Given the description of an element on the screen output the (x, y) to click on. 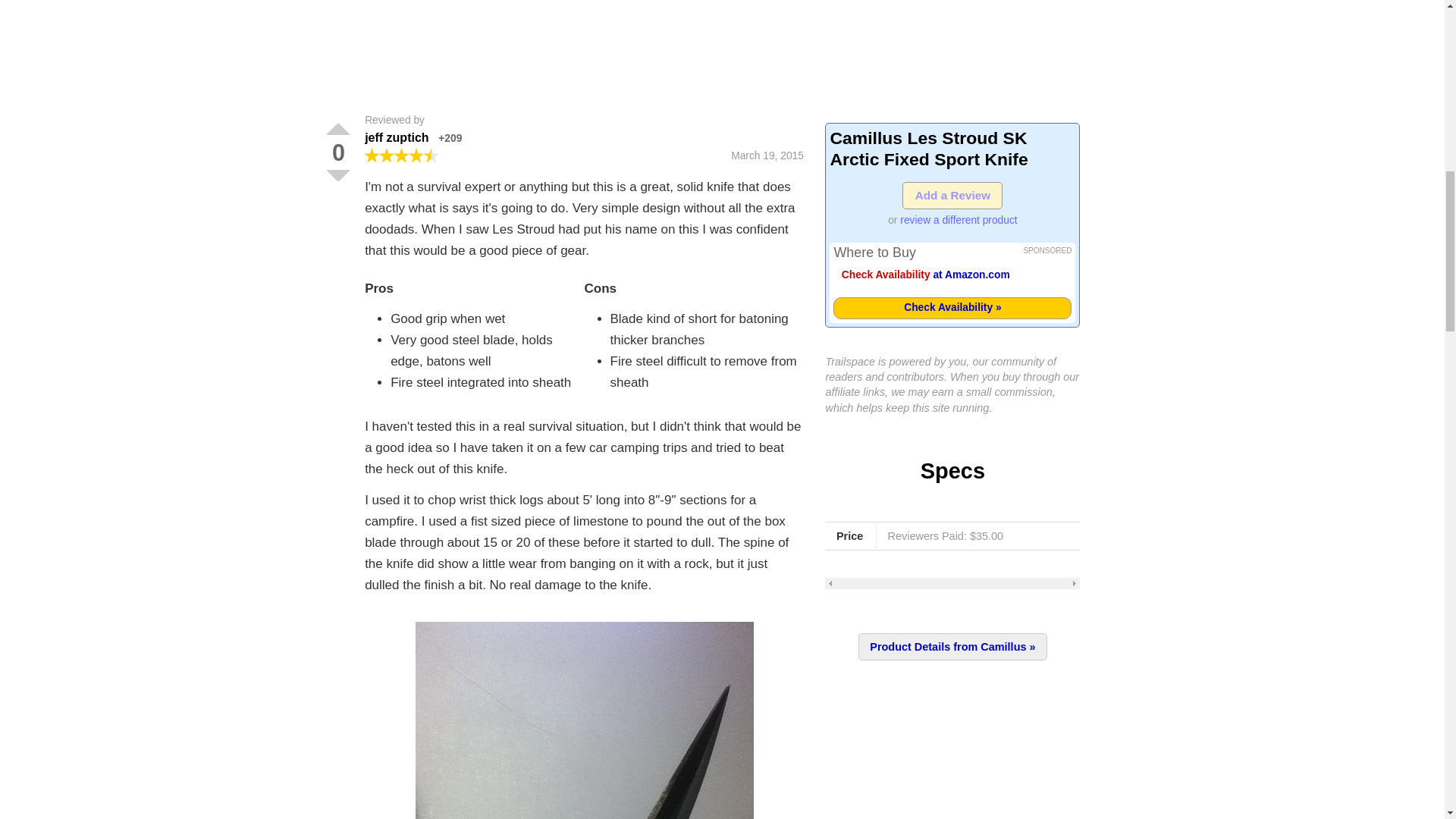
Reviewer Reputation (449, 138)
Vote down if this review is not useful (337, 174)
Vote up if this review is useful (337, 129)
